Given the description of an element on the screen output the (x, y) to click on. 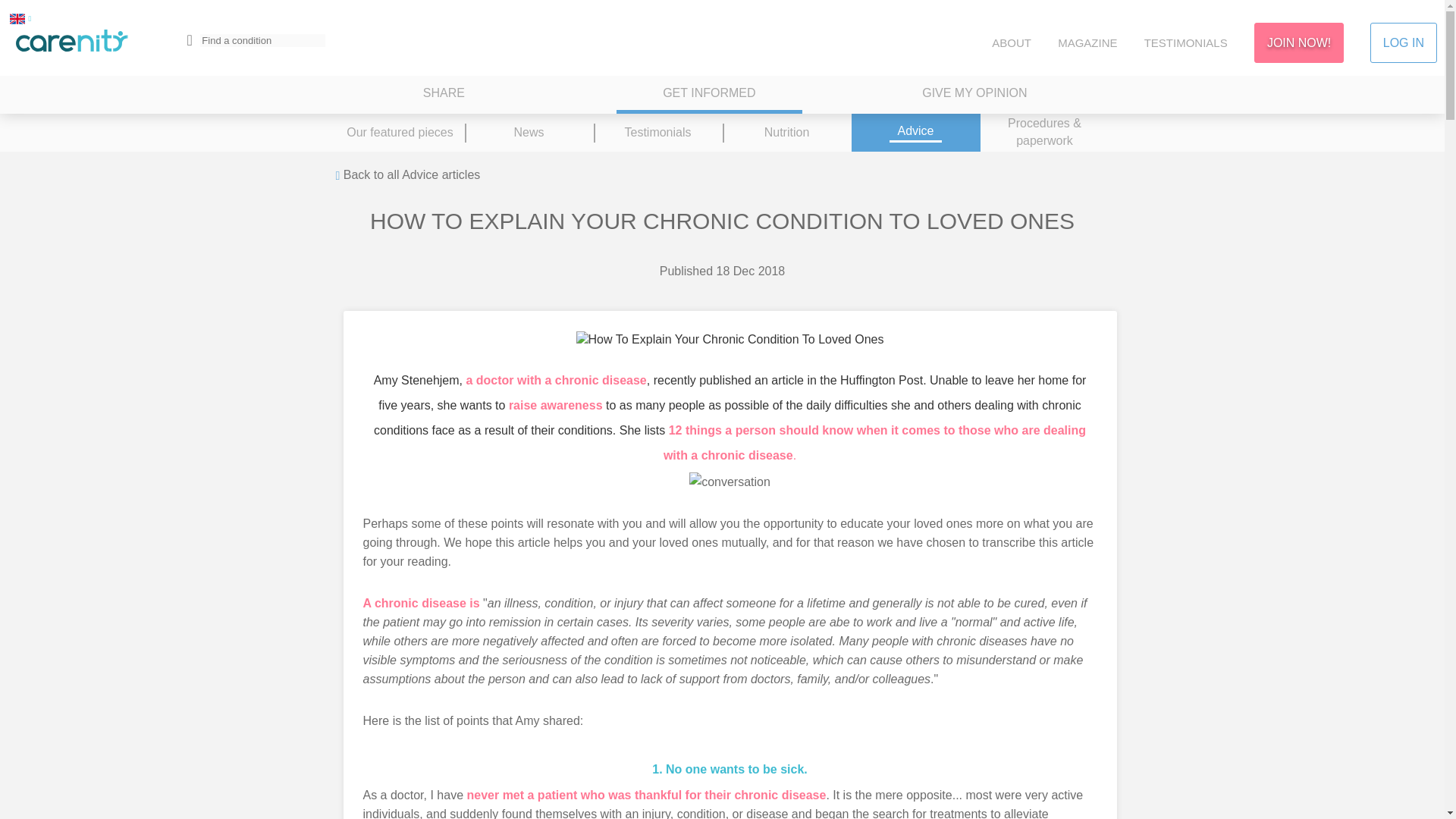
English (17, 18)
Our featured pieces (399, 132)
GIVE MY OPINION (974, 94)
MAGAZINE (1087, 42)
SHARE (443, 94)
TESTIMONIALS (1185, 42)
LOG IN (1403, 42)
ABOUT (1010, 42)
GET INFORMED (708, 94)
Advice (914, 132)
Testimonials (657, 132)
News (528, 132)
Back to all Advice articles (407, 175)
Nutrition (786, 132)
JOIN NOW! (1298, 42)
